Given the description of an element on the screen output the (x, y) to click on. 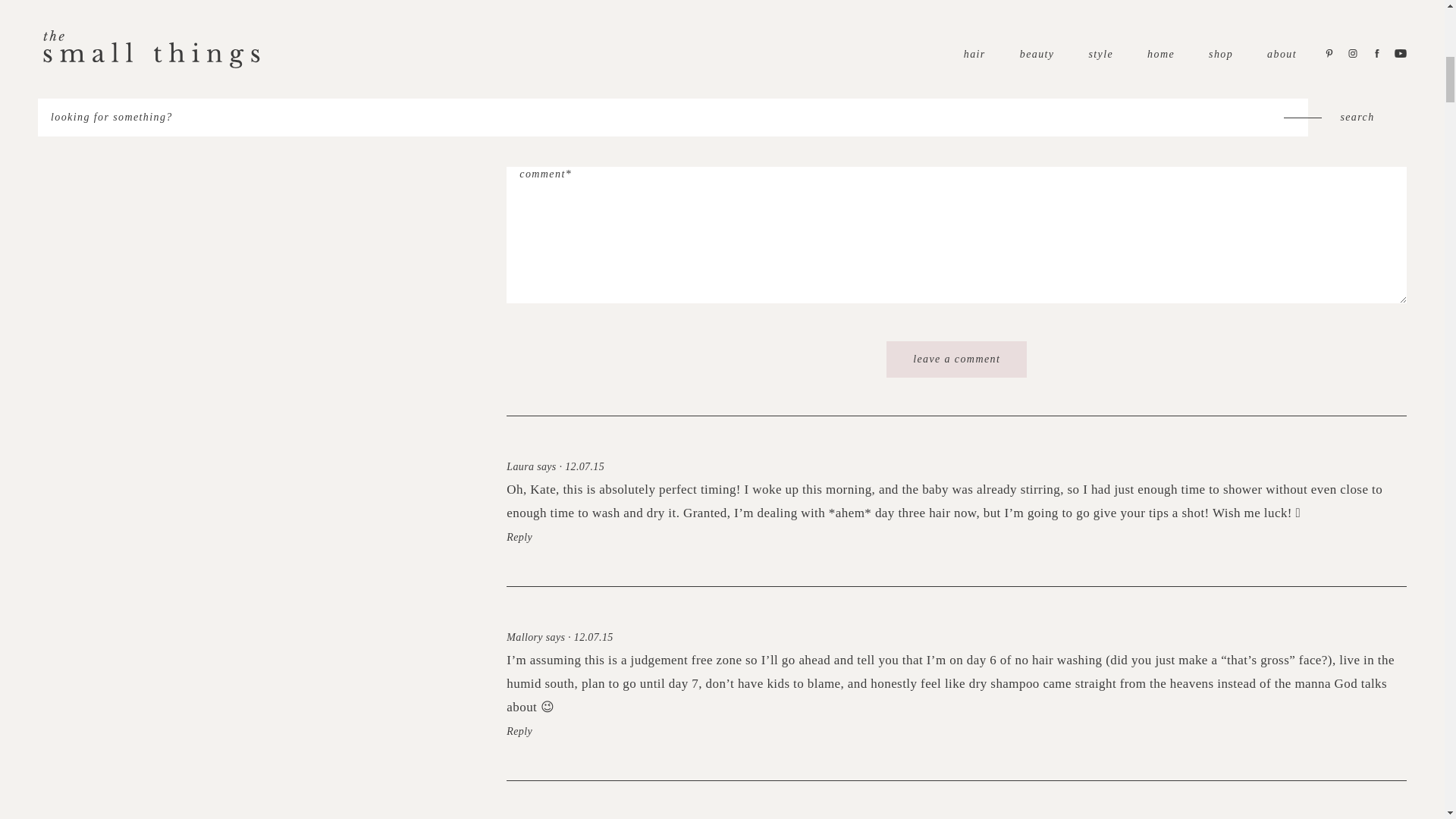
leave a comment (956, 359)
